Given the description of an element on the screen output the (x, y) to click on. 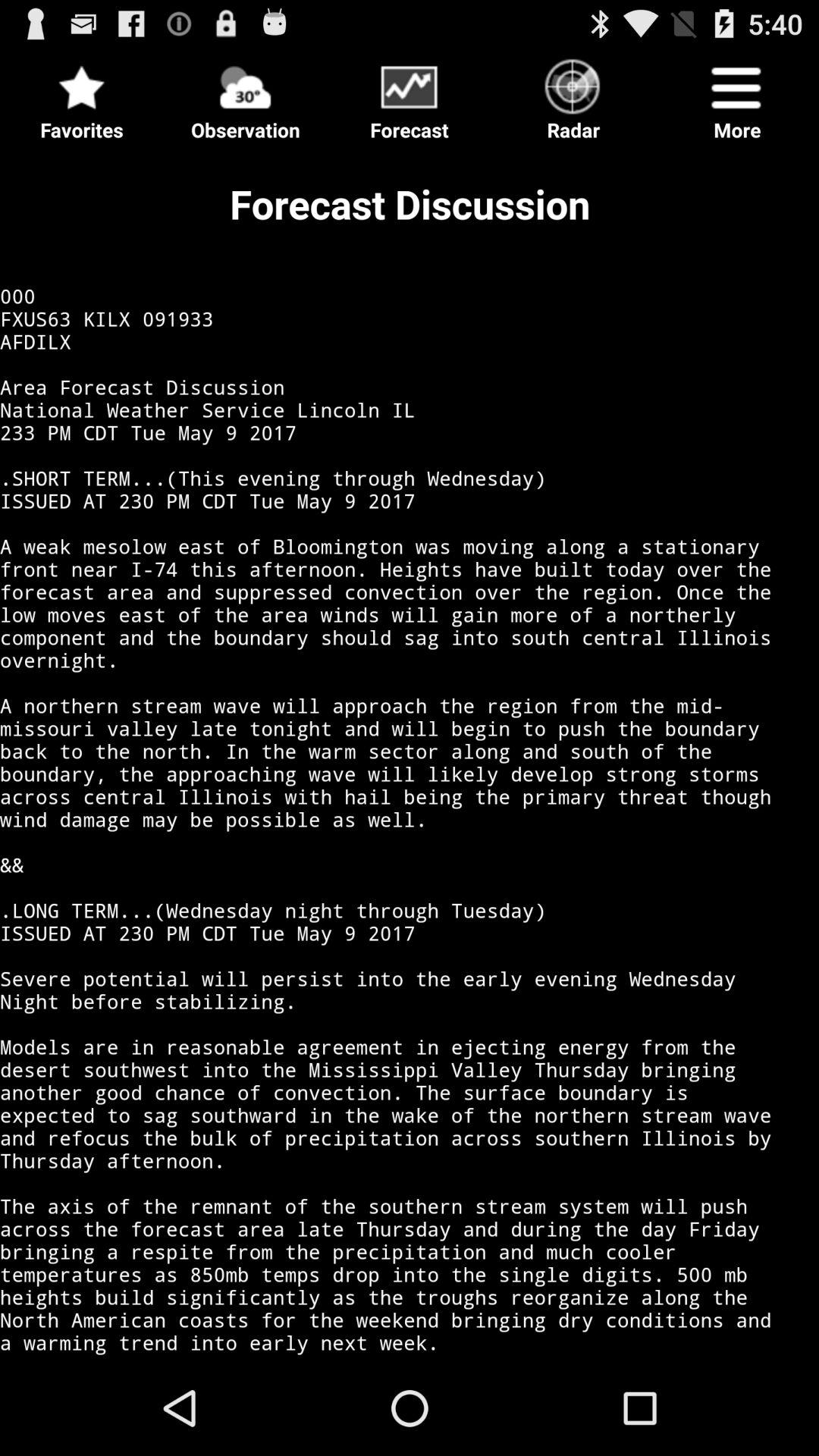
launch the button next to the observation item (81, 95)
